Given the description of an element on the screen output the (x, y) to click on. 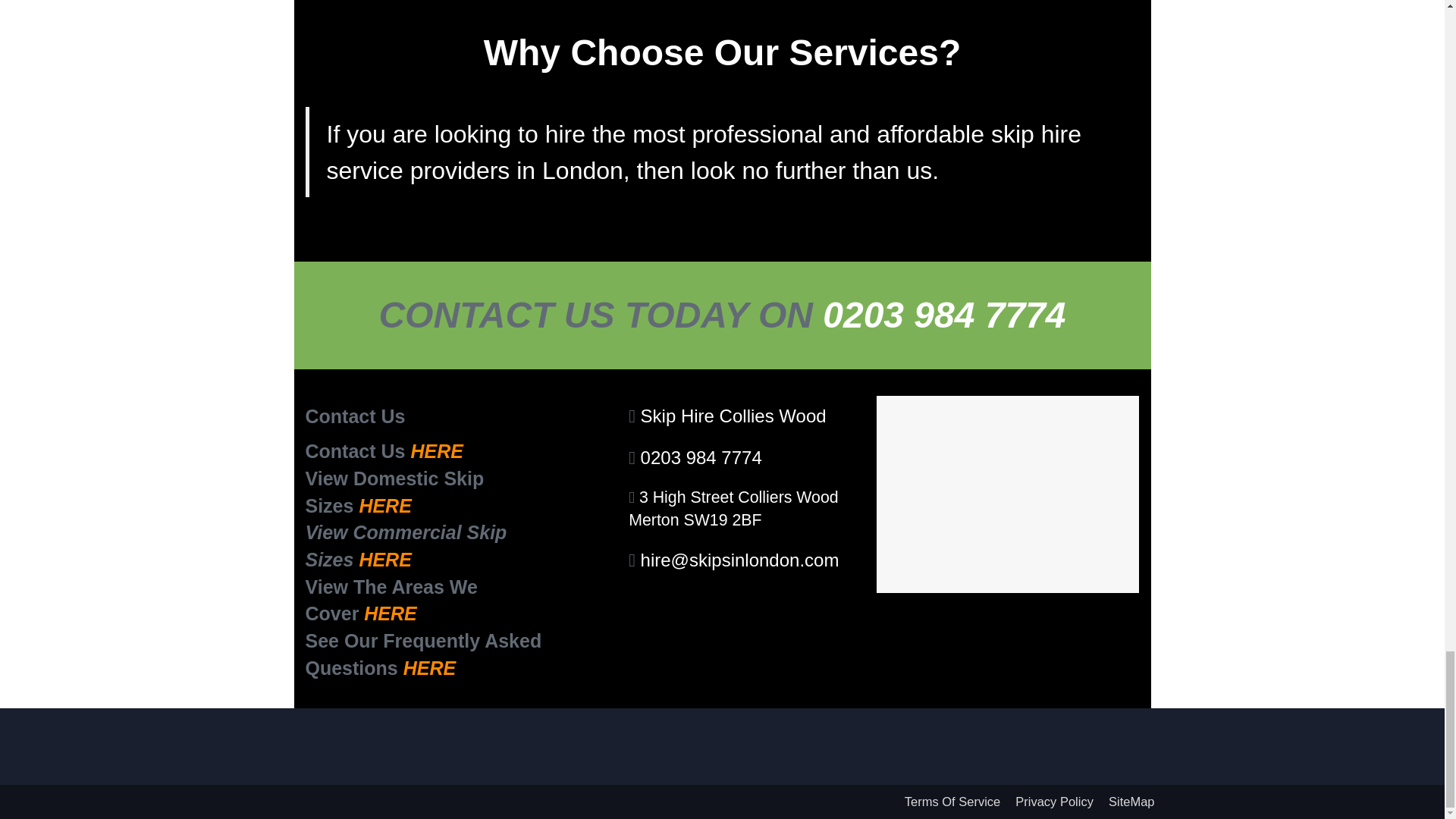
HERE (436, 450)
HERE (390, 613)
HERE (384, 505)
0203 984 7774 (943, 314)
HERE (384, 559)
0203 984 7774 (700, 457)
HERE (429, 667)
